Given the description of an element on the screen output the (x, y) to click on. 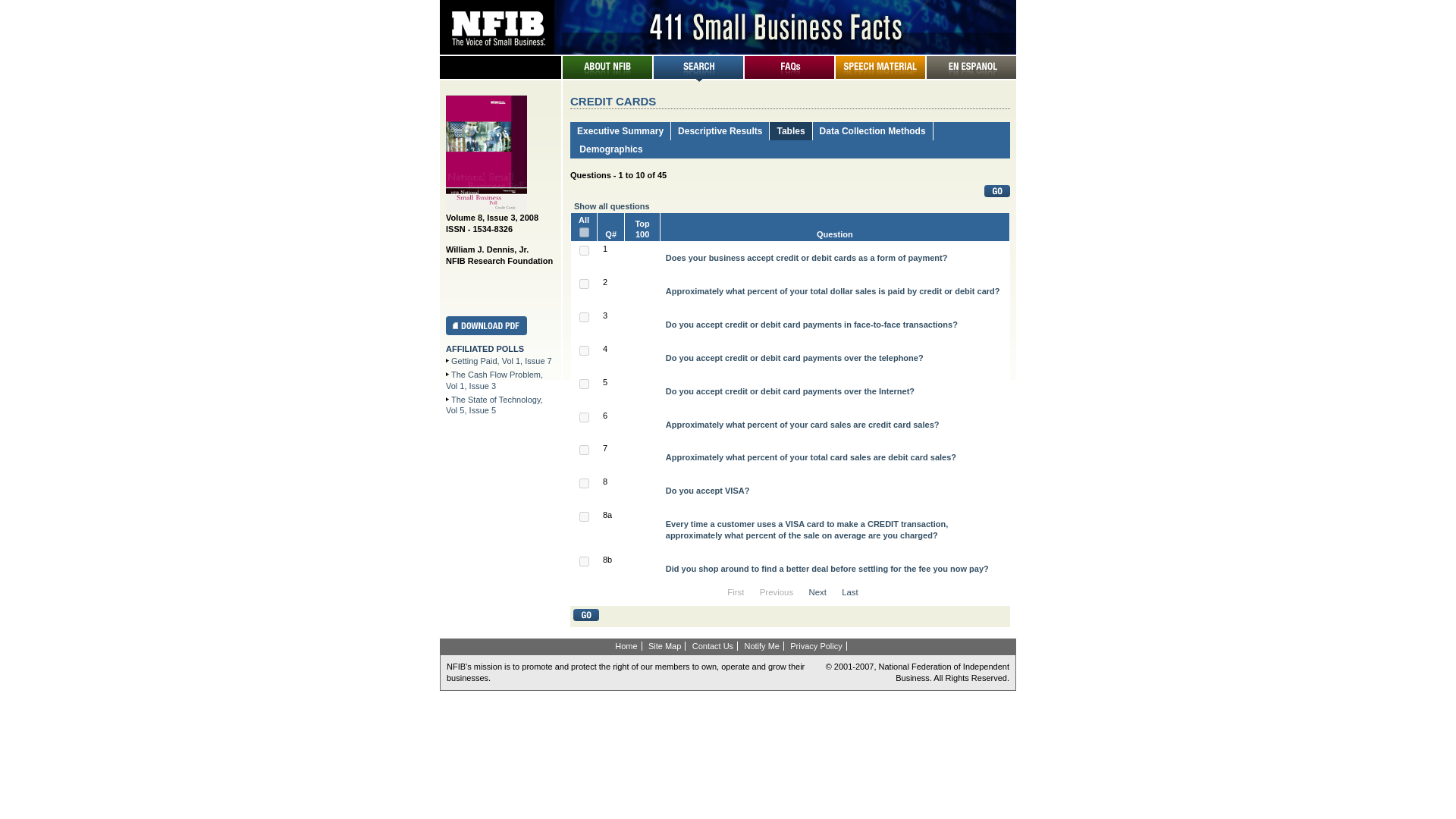
00000002040 (584, 450)
Download a PDF of this report (486, 331)
Previous (776, 592)
 Demographics (609, 149)
The State of Technology, Vol 5, Issue 5 (494, 404)
Data Collection Methods (872, 131)
Last (850, 592)
Tables (790, 131)
About NFIB (606, 75)
